Given the description of an element on the screen output the (x, y) to click on. 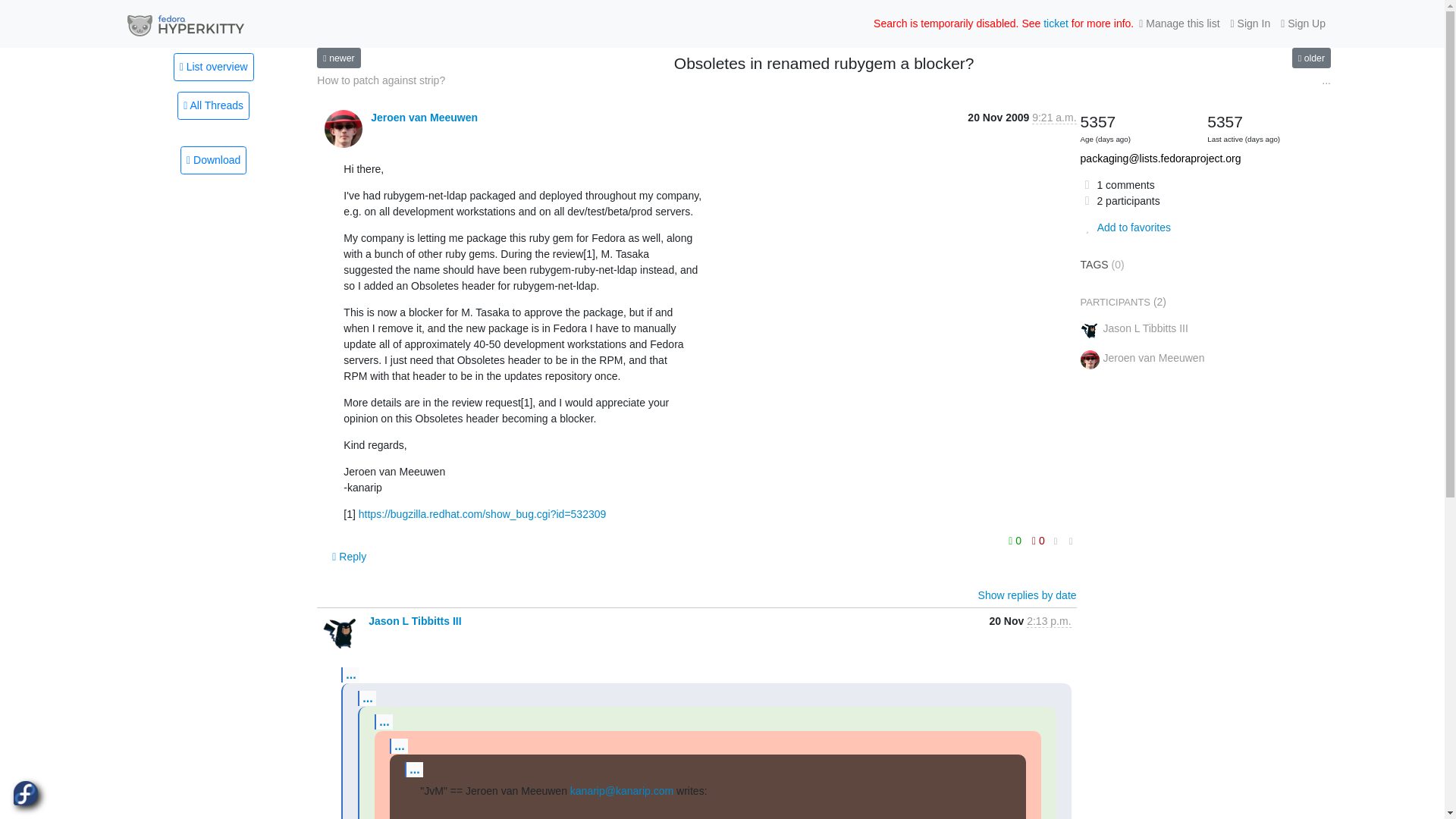
Sender's time: Nov. 20, 2009, 8:13 a.m. (1048, 621)
ticket (1055, 23)
Manage this list (1179, 23)
You must be logged-in to vote. (1037, 540)
This thread in gzipped mbox format (213, 160)
See the profile for Jeroen van Meeuwen (424, 117)
How to patch against strip? (381, 80)
Sender's time: Nov. 20, 2009, 10:21 a.m. (1053, 117)
Download (213, 160)
See the profile for Jason L Tibbitts III (414, 621)
Sign In (1250, 23)
Sign in to reply online (349, 556)
You must be logged-in to vote. (1015, 540)
Sign Up (1302, 23)
How to patch against strip? (381, 80)
